Given the description of an element on the screen output the (x, y) to click on. 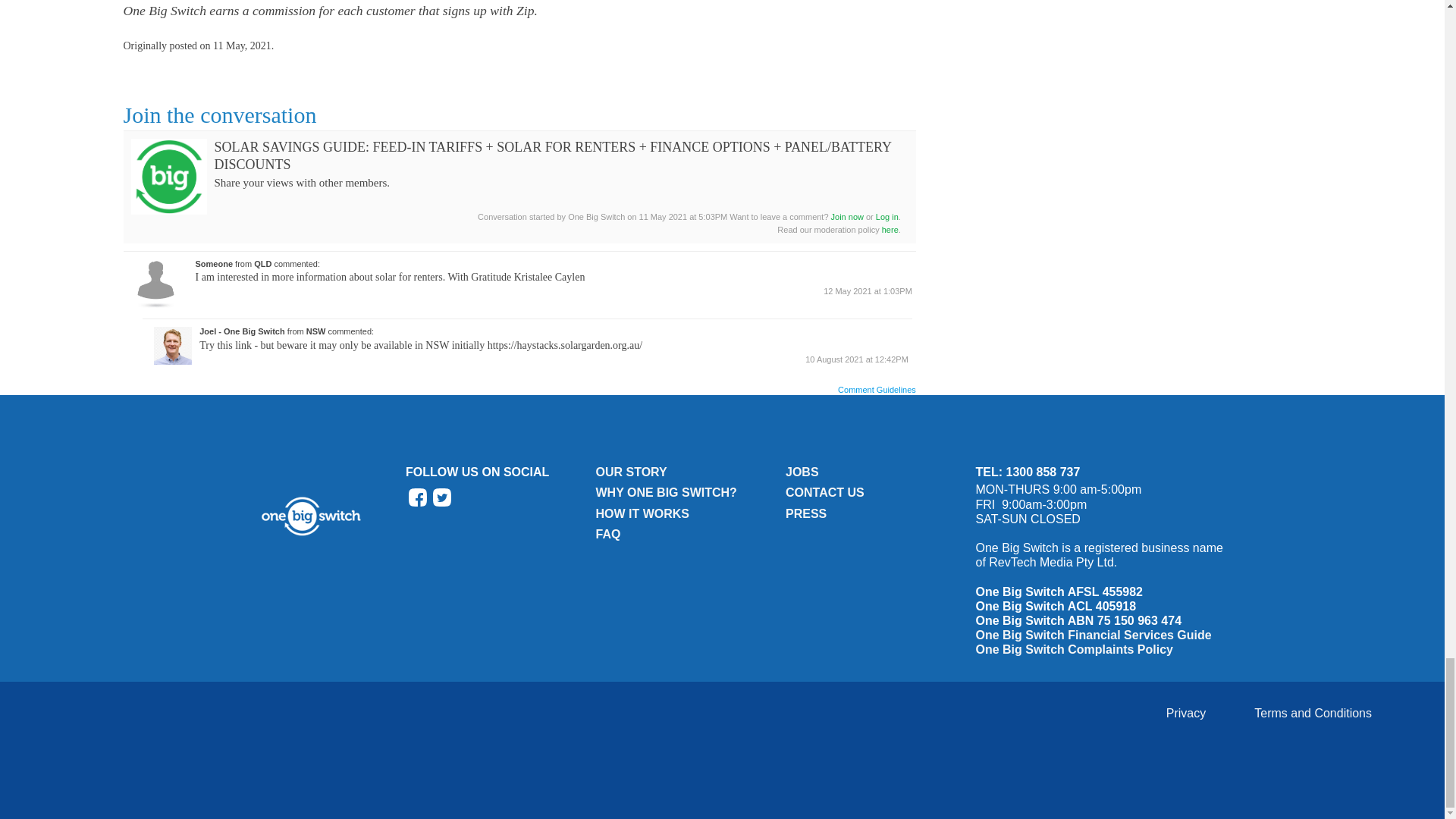
here (890, 229)
Log in (887, 216)
Join now (847, 216)
Comment Guidelines (876, 389)
